Given the description of an element on the screen output the (x, y) to click on. 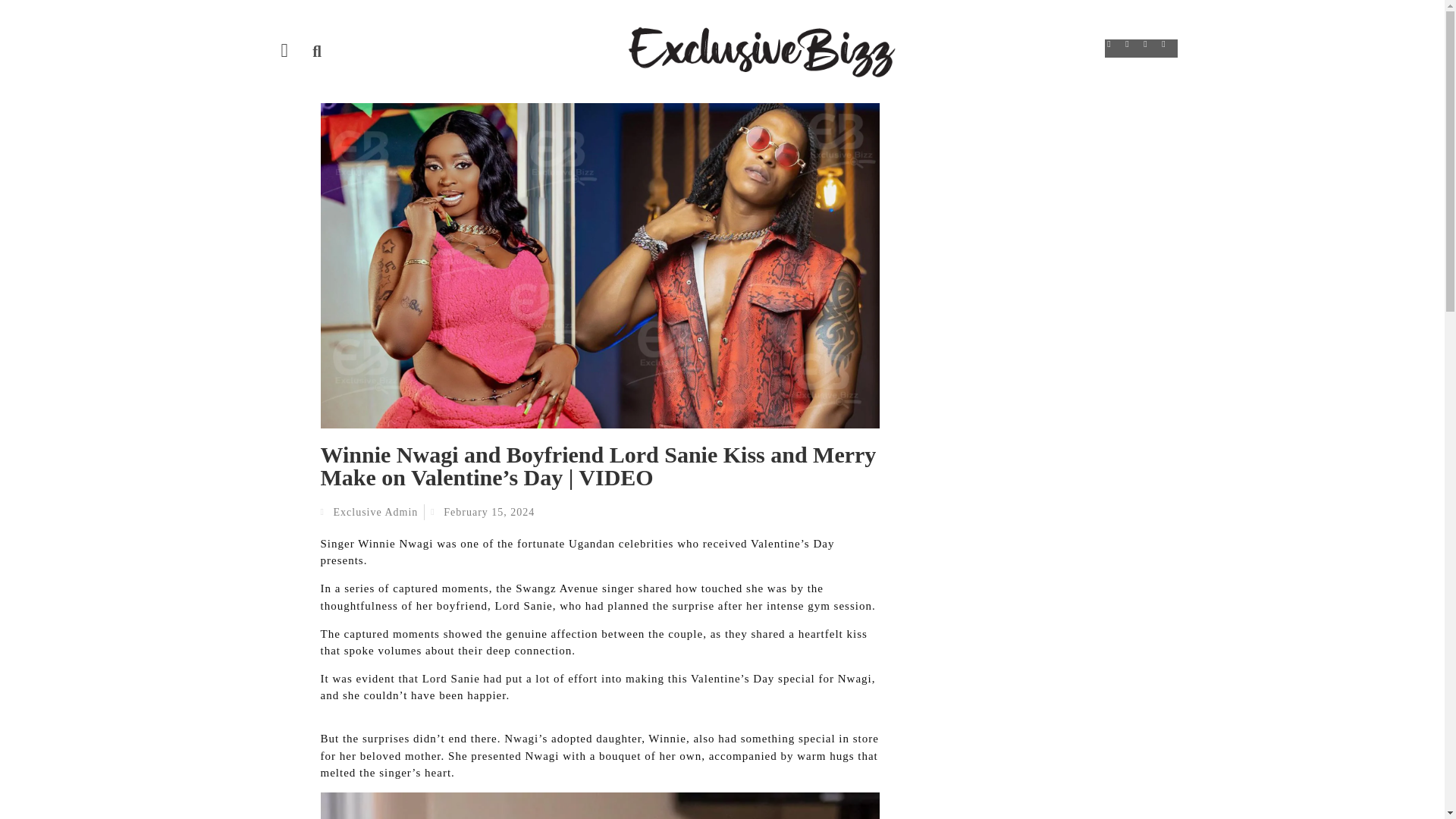
Exclusive Admin (368, 512)
February 15, 2024 (482, 512)
